Given the description of an element on the screen output the (x, y) to click on. 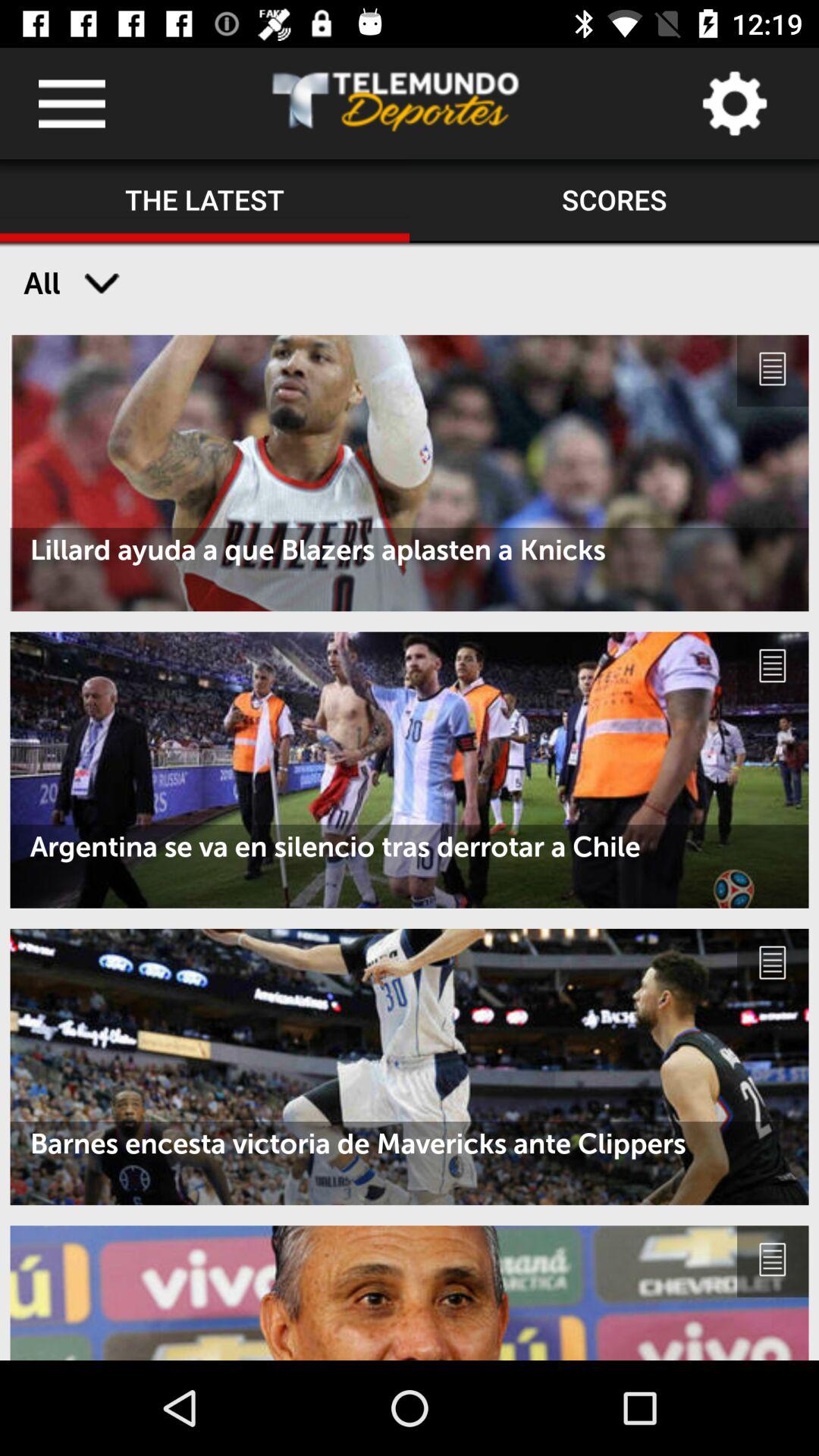
open the item next to scores (204, 200)
